Given the description of an element on the screen output the (x, y) to click on. 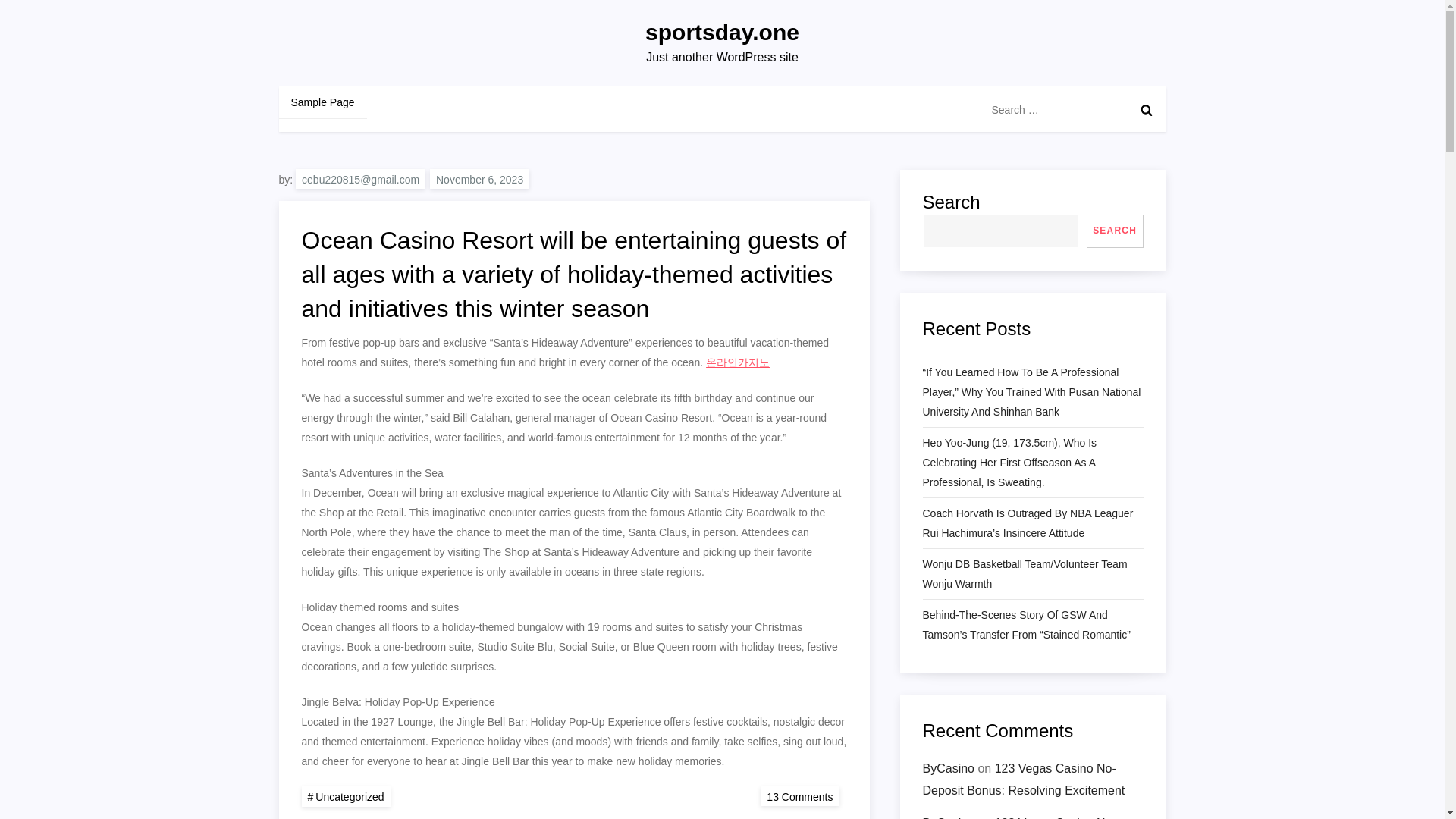
Sample Page (322, 101)
Uncategorized (345, 796)
November 6, 2023 (479, 178)
sportsday.one (722, 32)
